Given the description of an element on the screen output the (x, y) to click on. 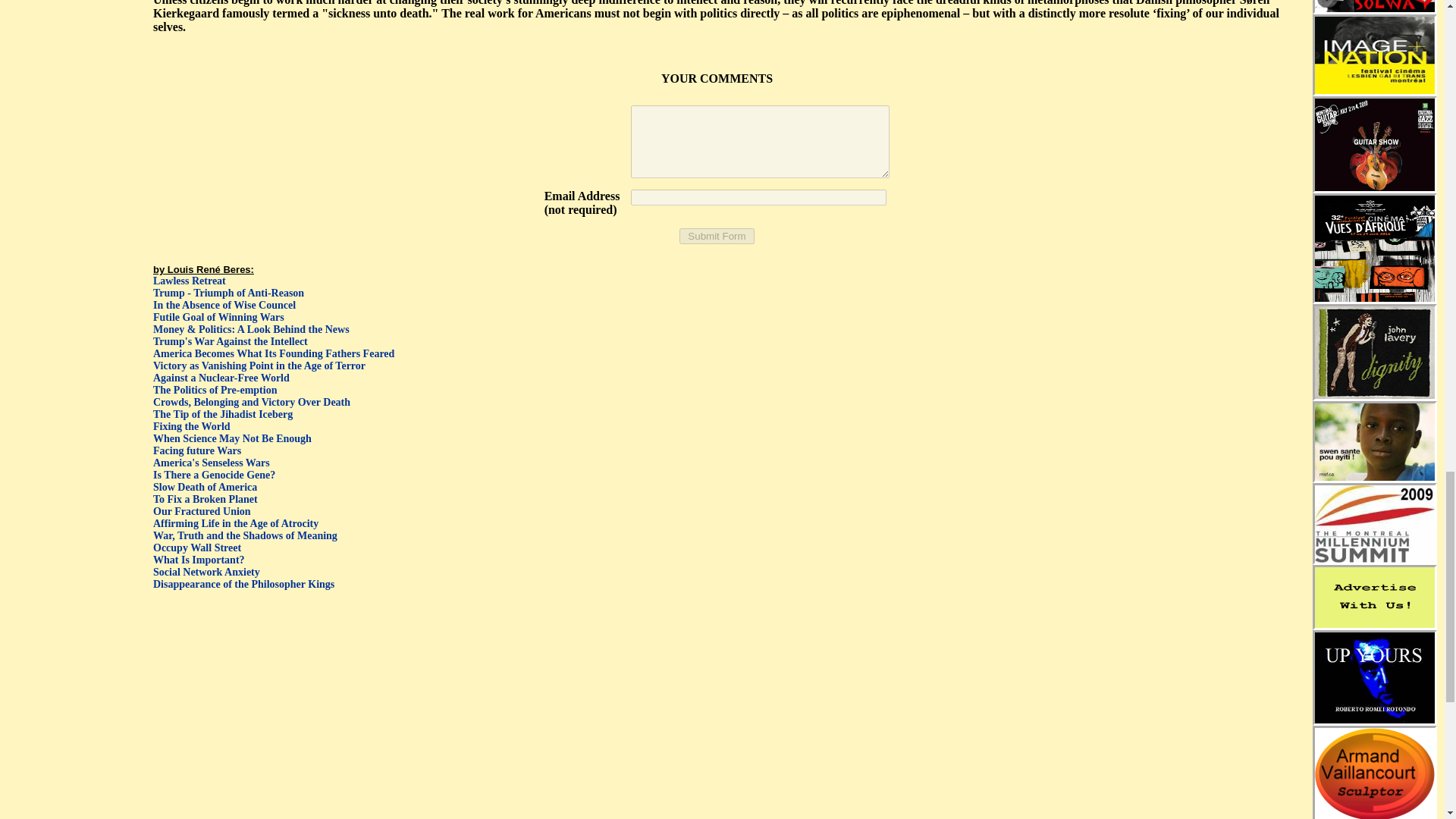
Trump - Triumph of Anti-Reason (228, 292)
In the Absence of Wise Councel (223, 305)
Lawless Retreat (188, 280)
Futile Goal of Winning Wars (217, 317)
David Solway's Blood Guitar CD (1374, 6)
 Submit Form  (717, 236)
 Submit Form  (717, 236)
